Given the description of an element on the screen output the (x, y) to click on. 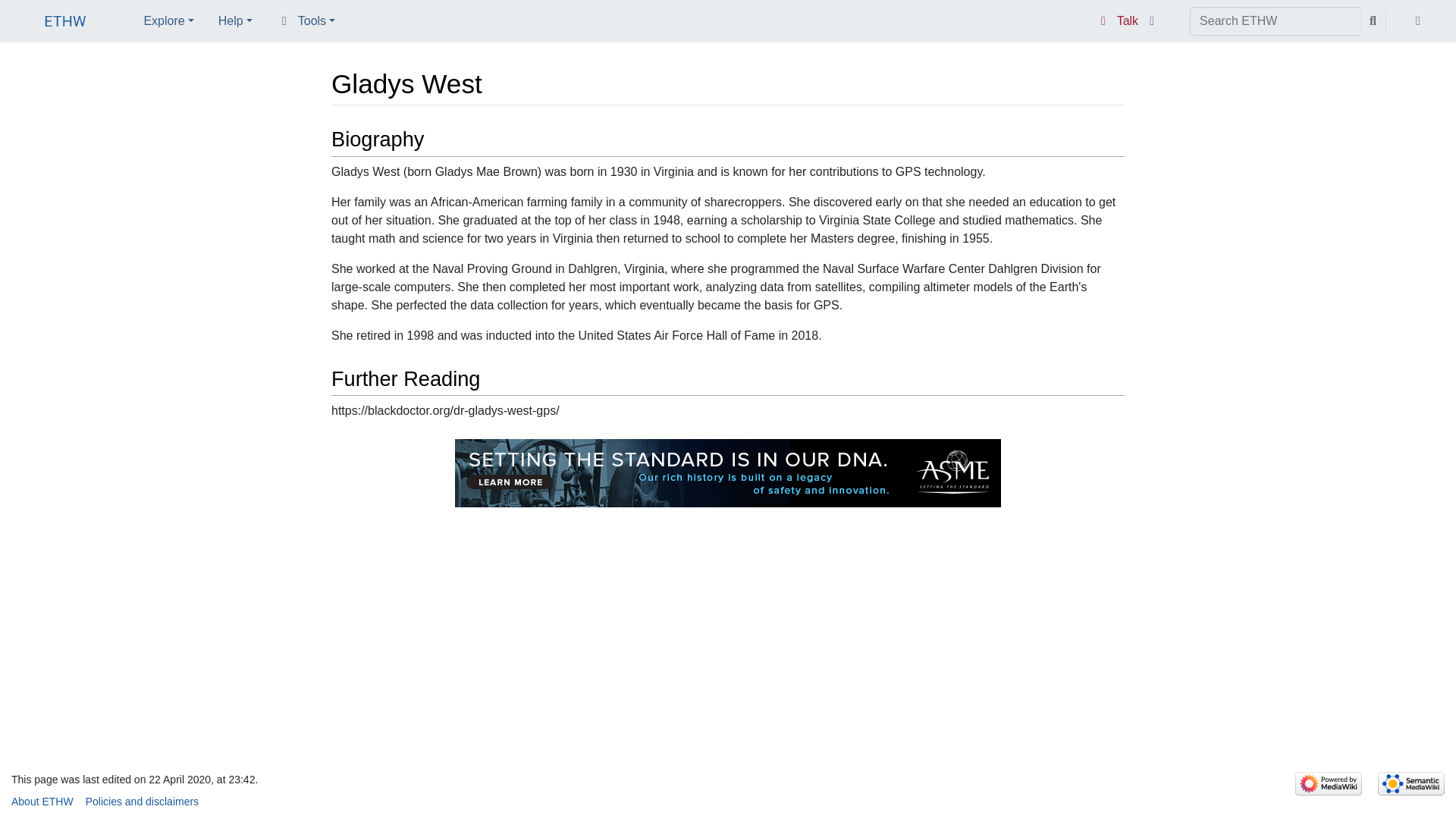
Visit the main page (65, 22)
Talk (1117, 21)
Help (235, 20)
Explore (168, 20)
Tools (305, 20)
Go (1372, 21)
Go to a page with this exact name if it exists (1372, 21)
